Given the description of an element on the screen output the (x, y) to click on. 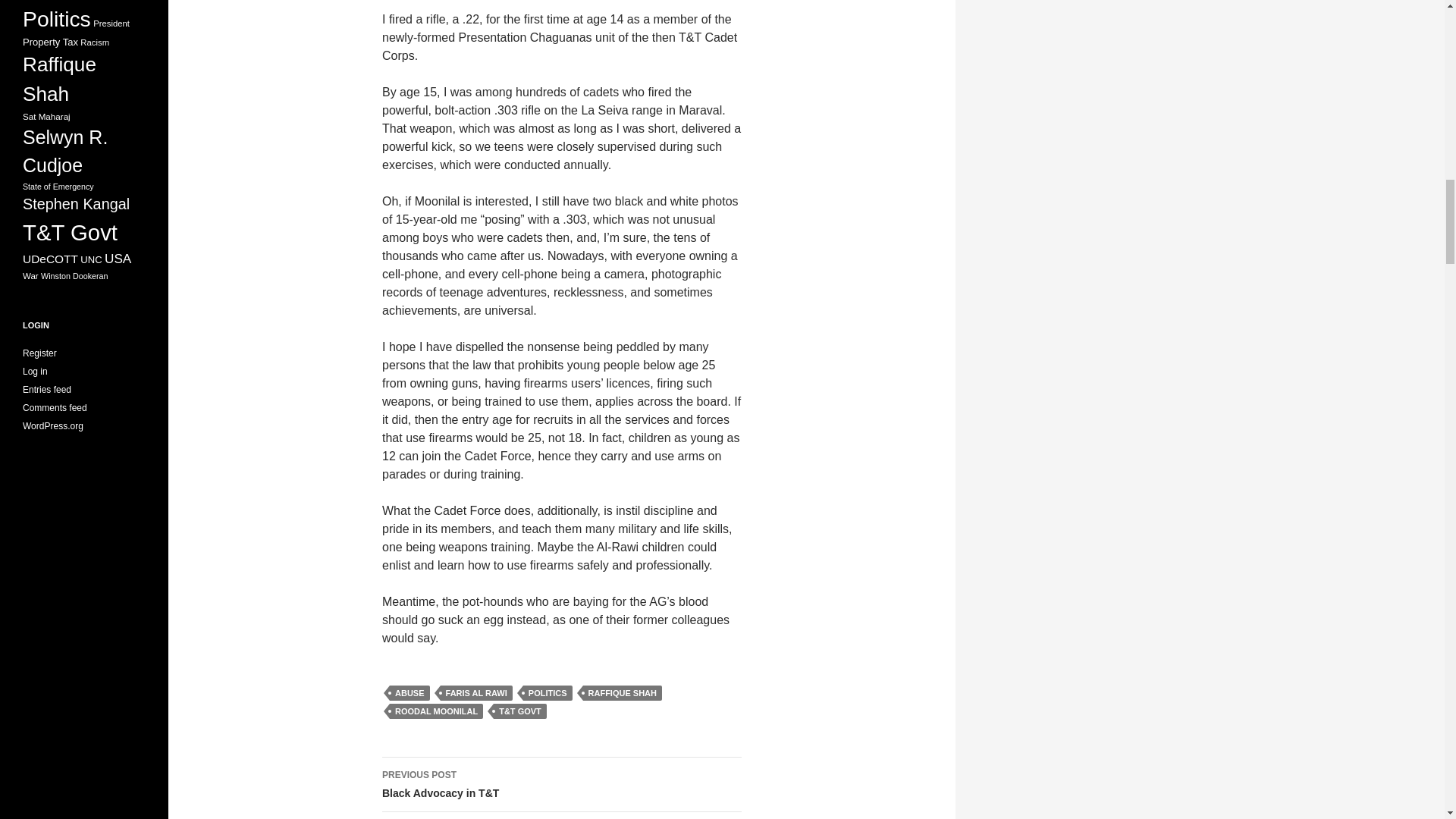
FARIS AL RAWI (476, 693)
RAFFIQUE SHAH (622, 693)
ROODAL MOONILAL (561, 815)
POLITICS (436, 711)
ABUSE (547, 693)
